Given the description of an element on the screen output the (x, y) to click on. 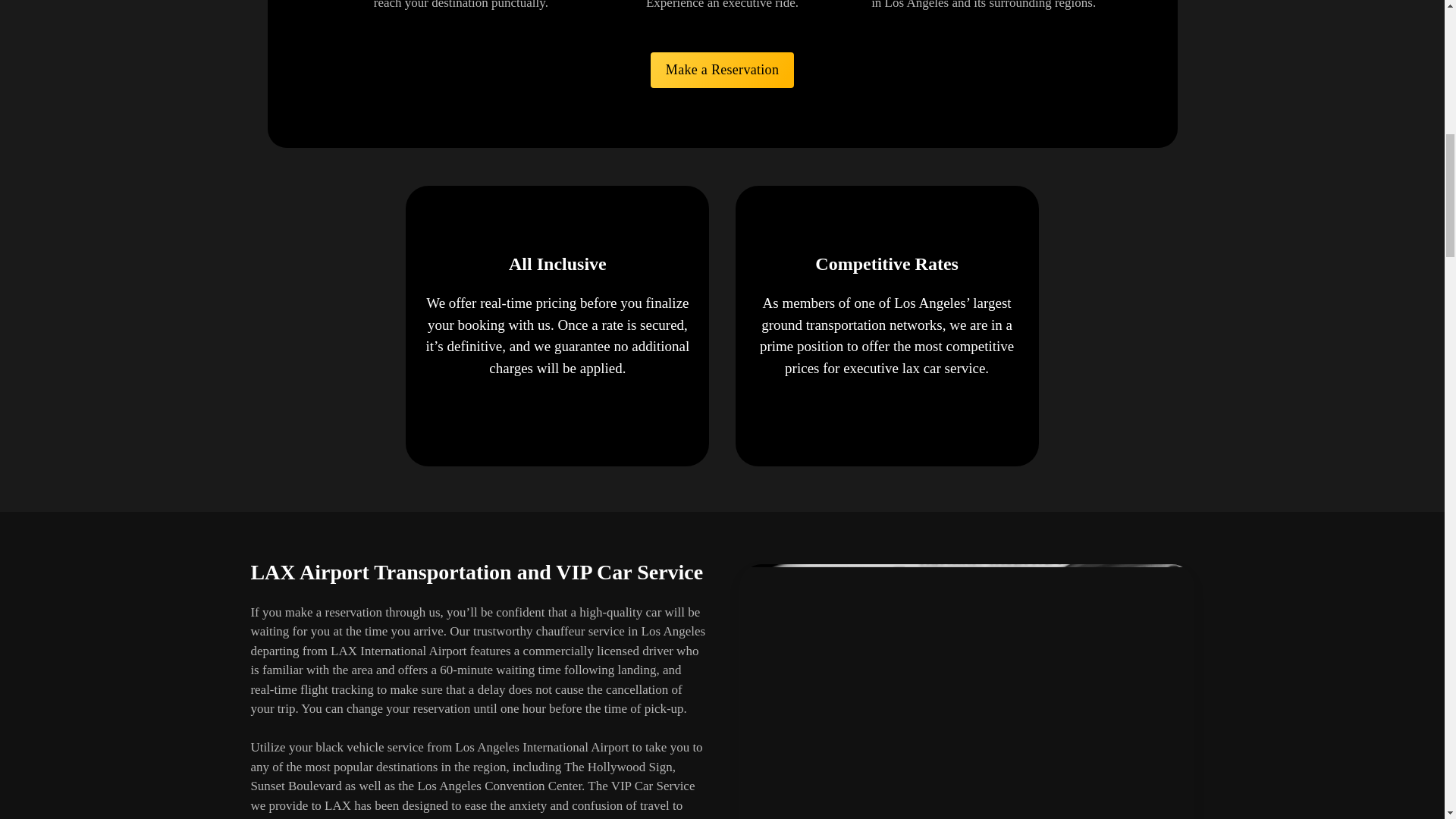
Make a Reservation (721, 69)
Scroll back to top (1406, 720)
